Given the description of an element on the screen output the (x, y) to click on. 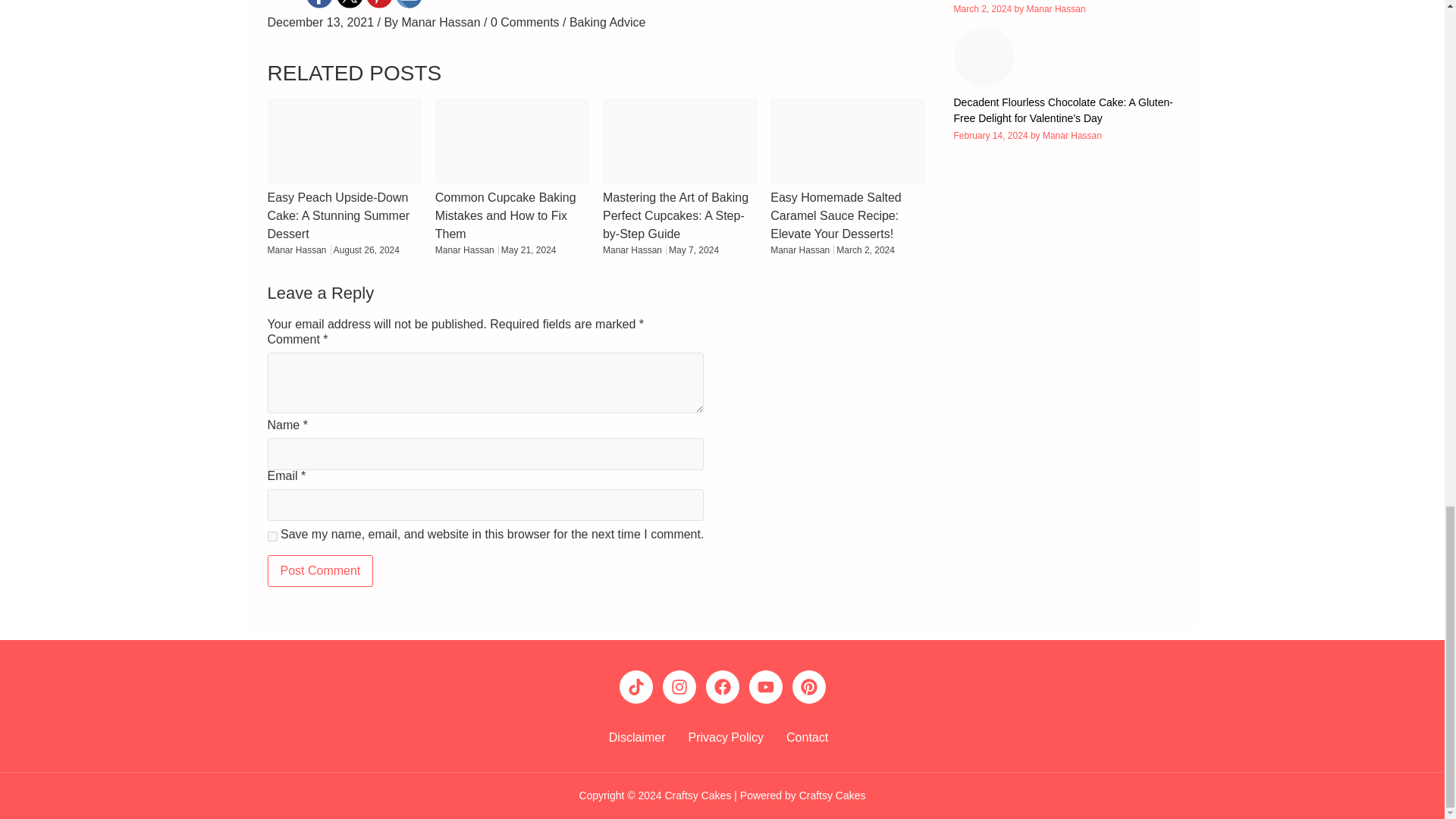
Post Comment (319, 571)
Post Comment (319, 571)
yes (271, 536)
